Given the description of an element on the screen output the (x, y) to click on. 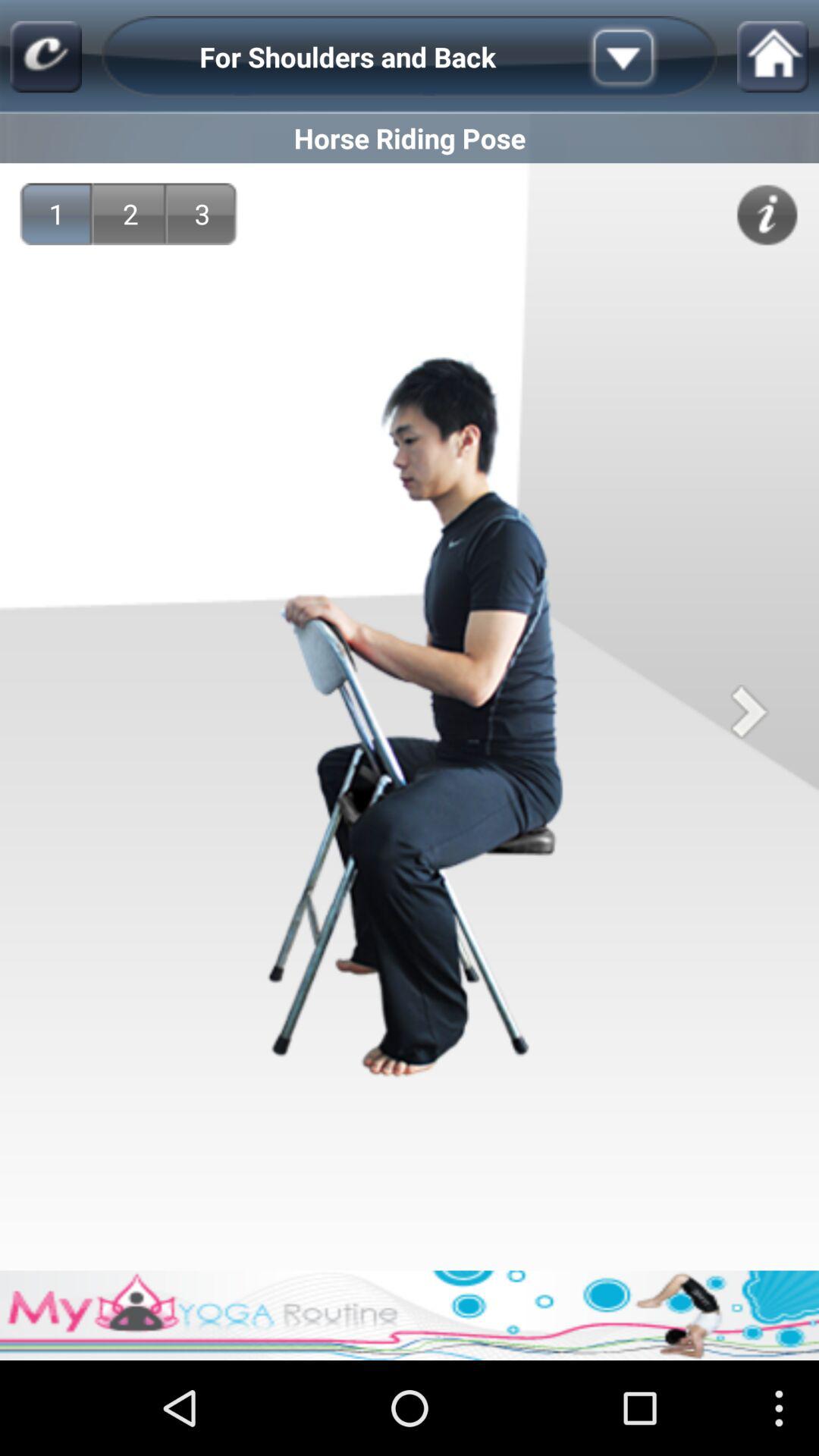
next image (749, 711)
